Given the description of an element on the screen output the (x, y) to click on. 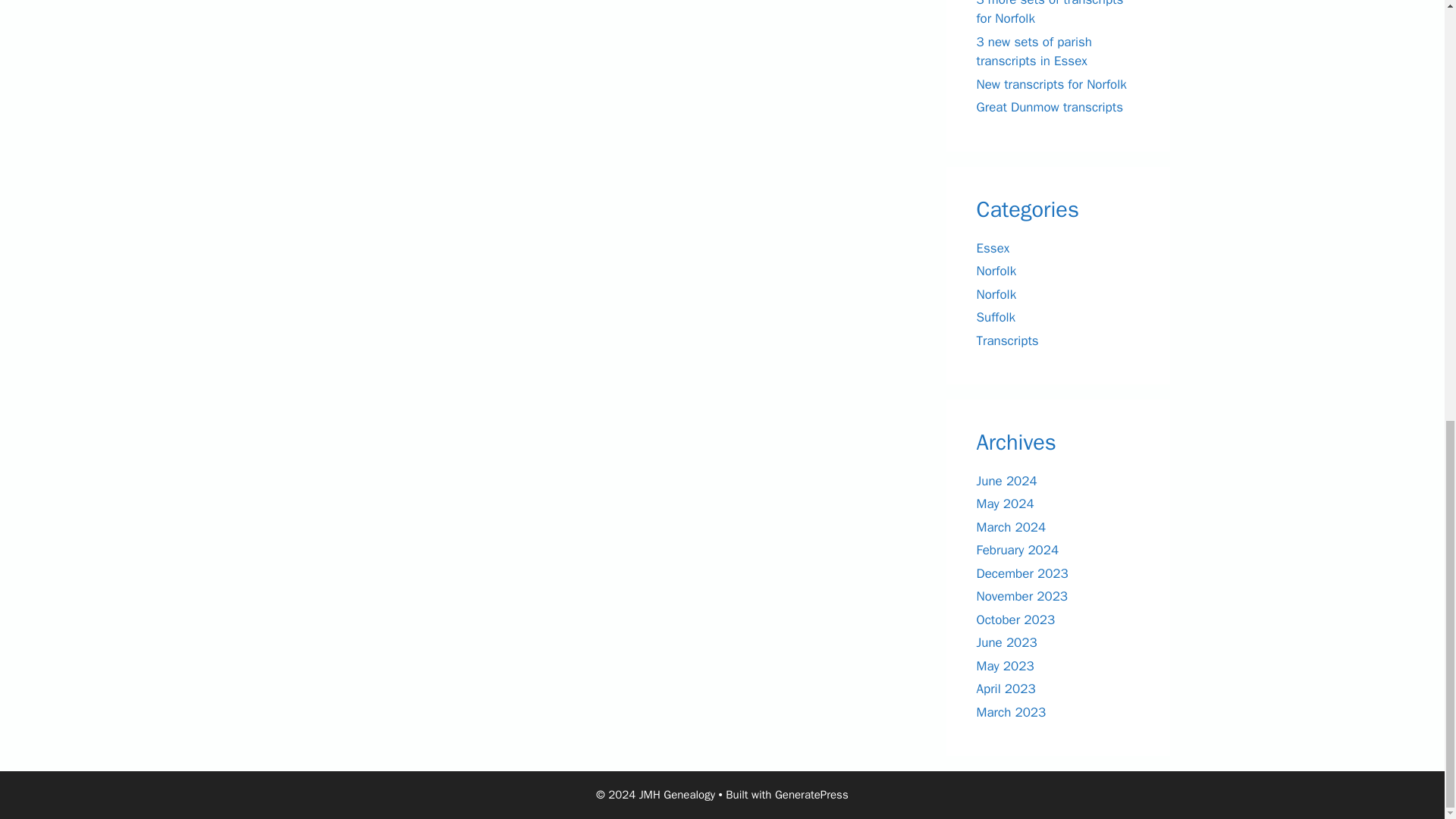
Scroll back to top (1406, 673)
